Given the description of an element on the screen output the (x, y) to click on. 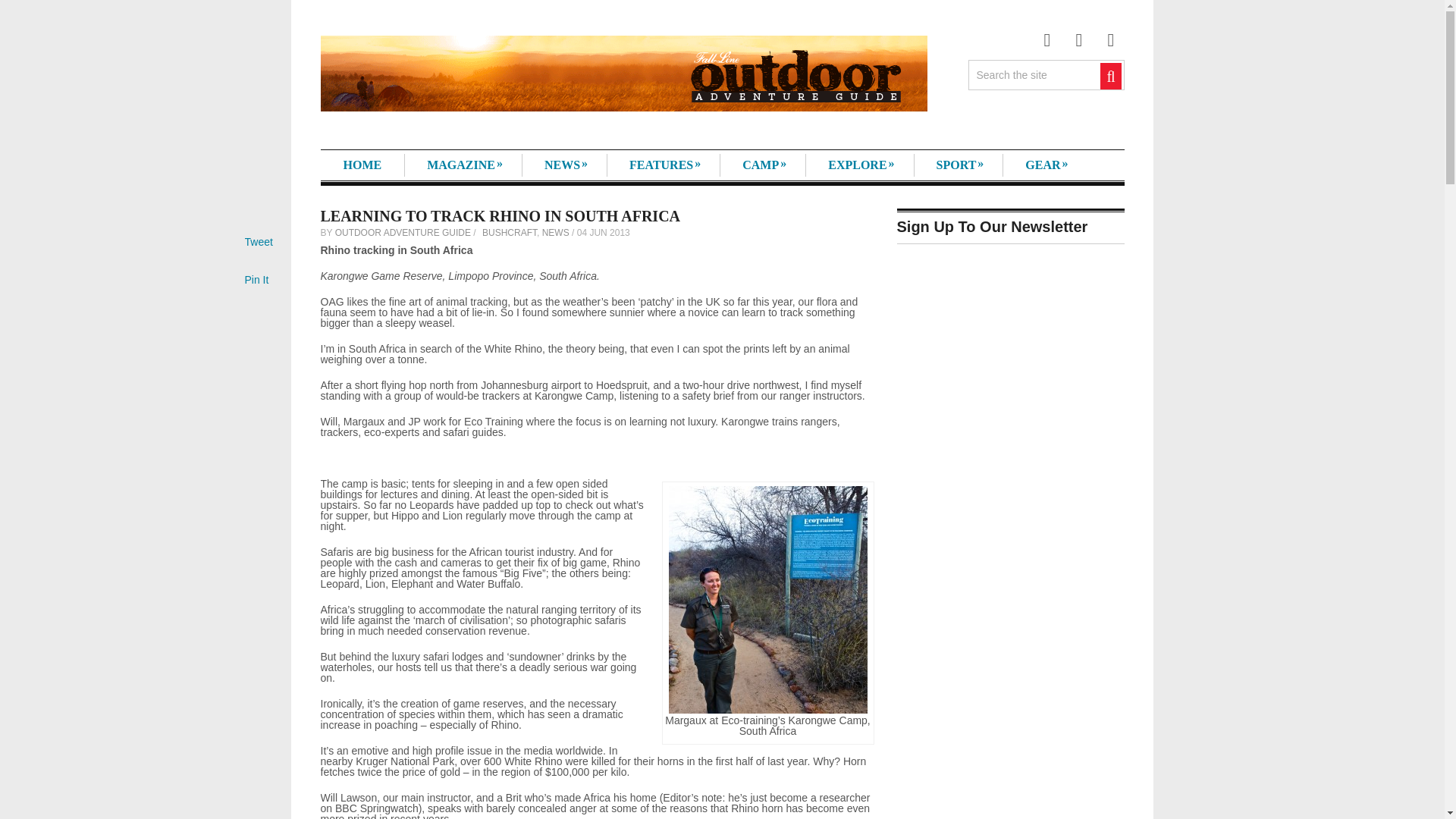
Search the site (1034, 74)
HOME (362, 164)
Subscription MailPoet (1010, 380)
Posts by Outdoor Adventure Guide (402, 232)
